Given the description of an element on the screen output the (x, y) to click on. 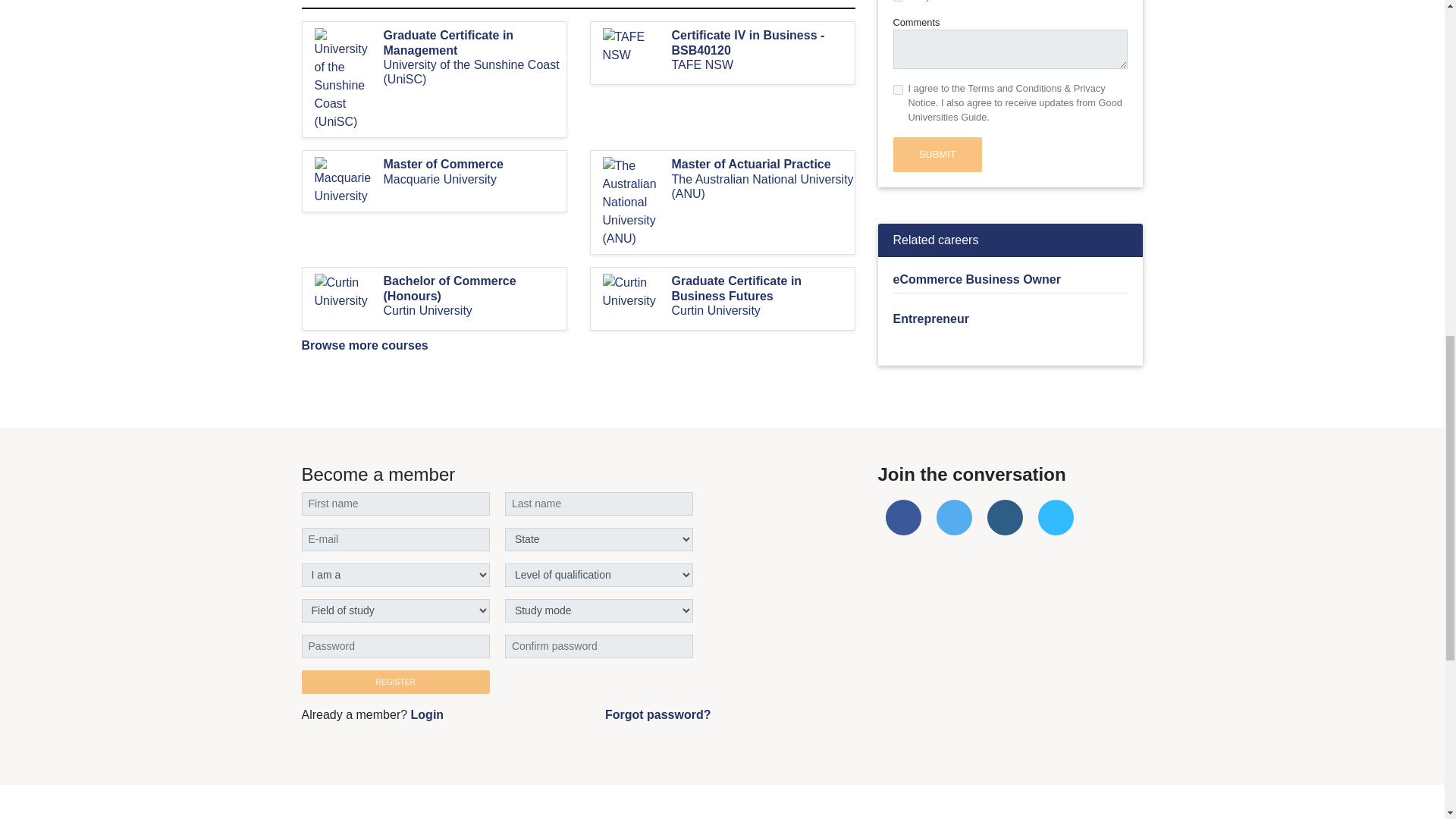
Browse more courses (364, 345)
Master of Commerce (475, 164)
Graduate Certificate in Management (475, 41)
TAFE NSW (762, 64)
Graduate Certificate in Business Futures (762, 287)
Certificate IV in Business - BSB40120 (762, 41)
Curtin University (475, 310)
Master of Actuarial Practice (762, 164)
Macquarie University (475, 178)
